Given the description of an element on the screen output the (x, y) to click on. 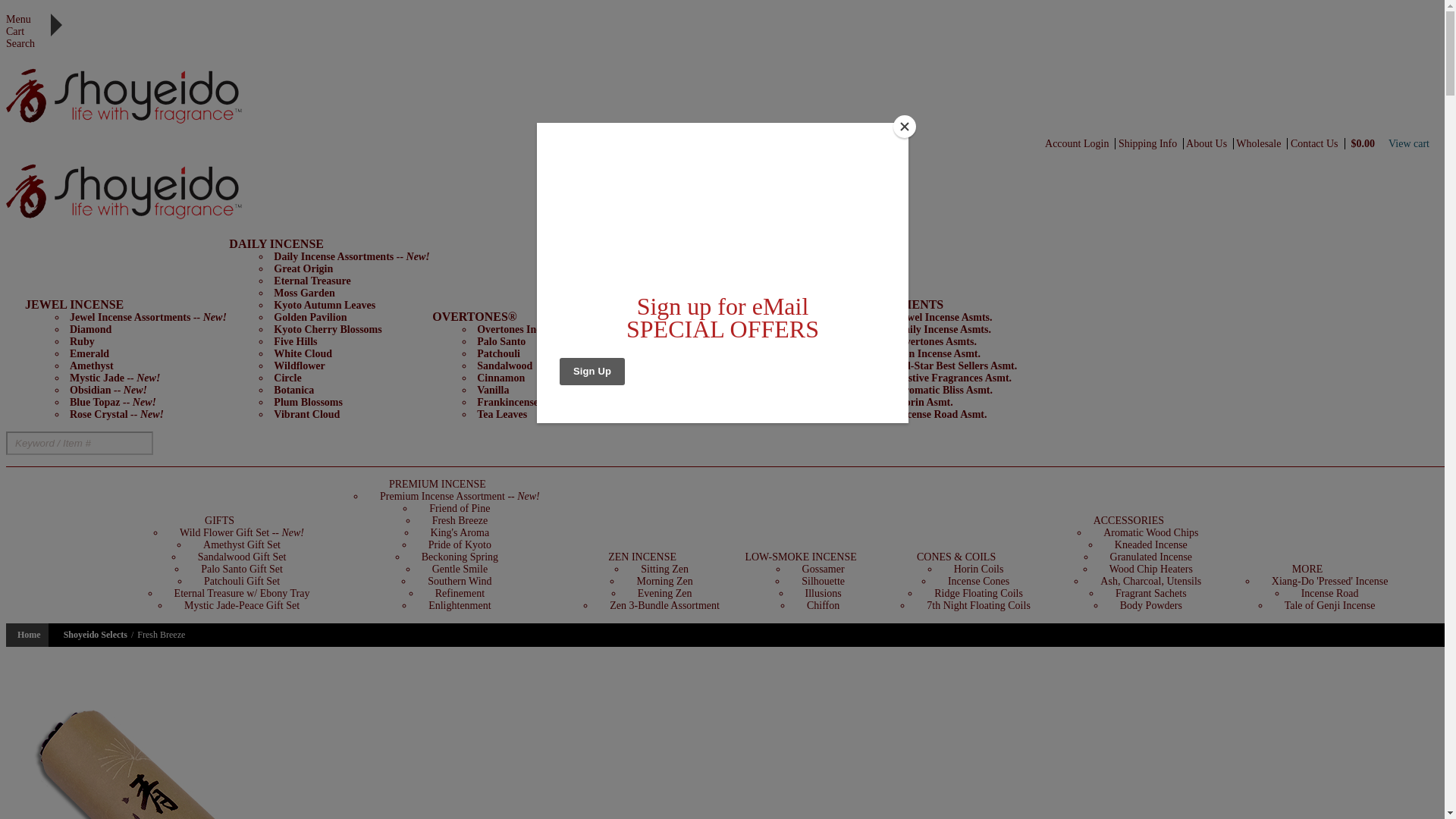
Shoyeido (128, 123)
Shoyeido Customer Assistance (1209, 143)
Shoyeido (128, 88)
